Given the description of an element on the screen output the (x, y) to click on. 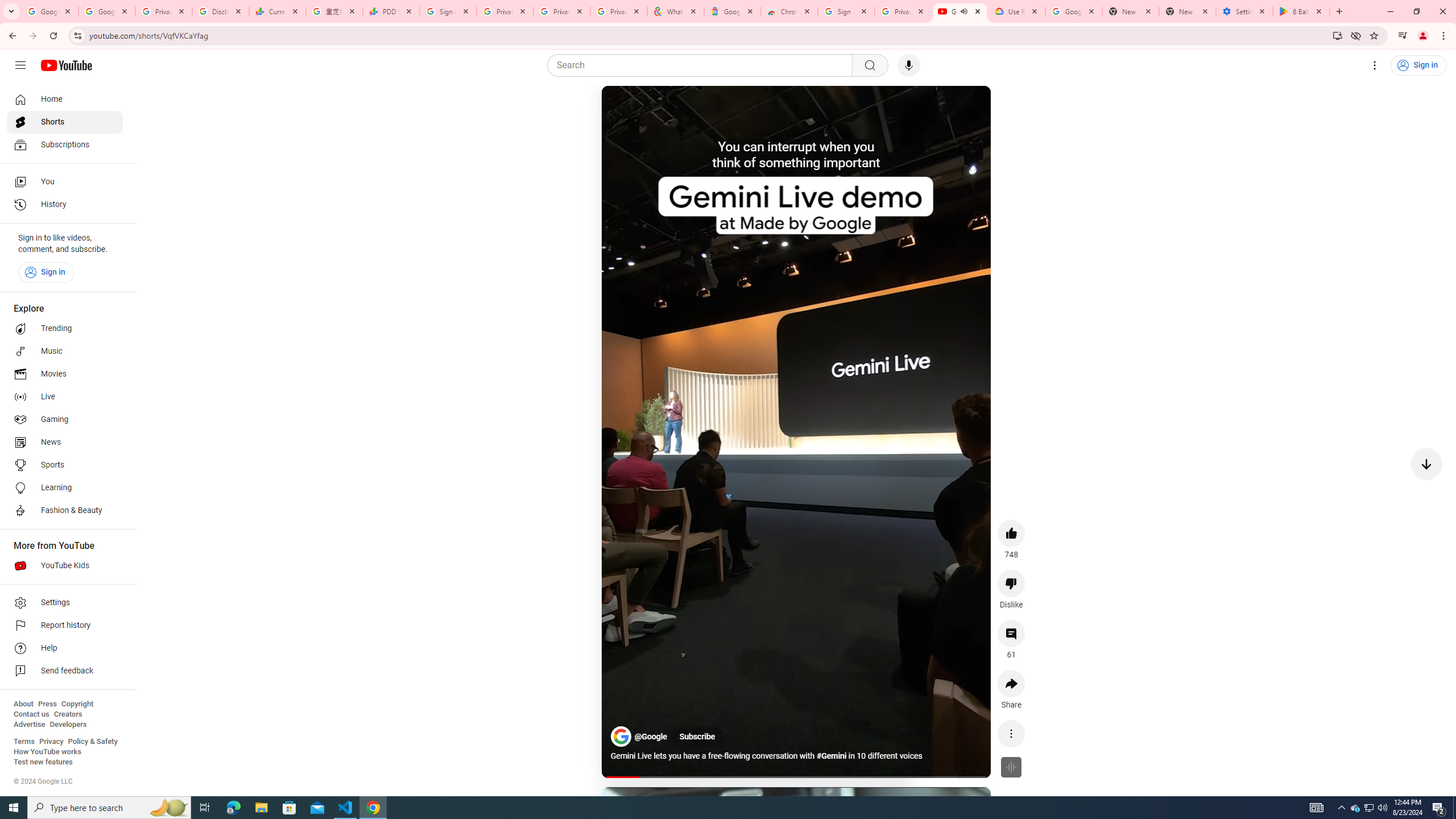
Report history (64, 625)
Fashion & Beauty (64, 510)
New Tab (1187, 11)
Press (46, 703)
Creators (67, 714)
#Gemini (831, 756)
History (64, 204)
